Given the description of an element on the screen output the (x, y) to click on. 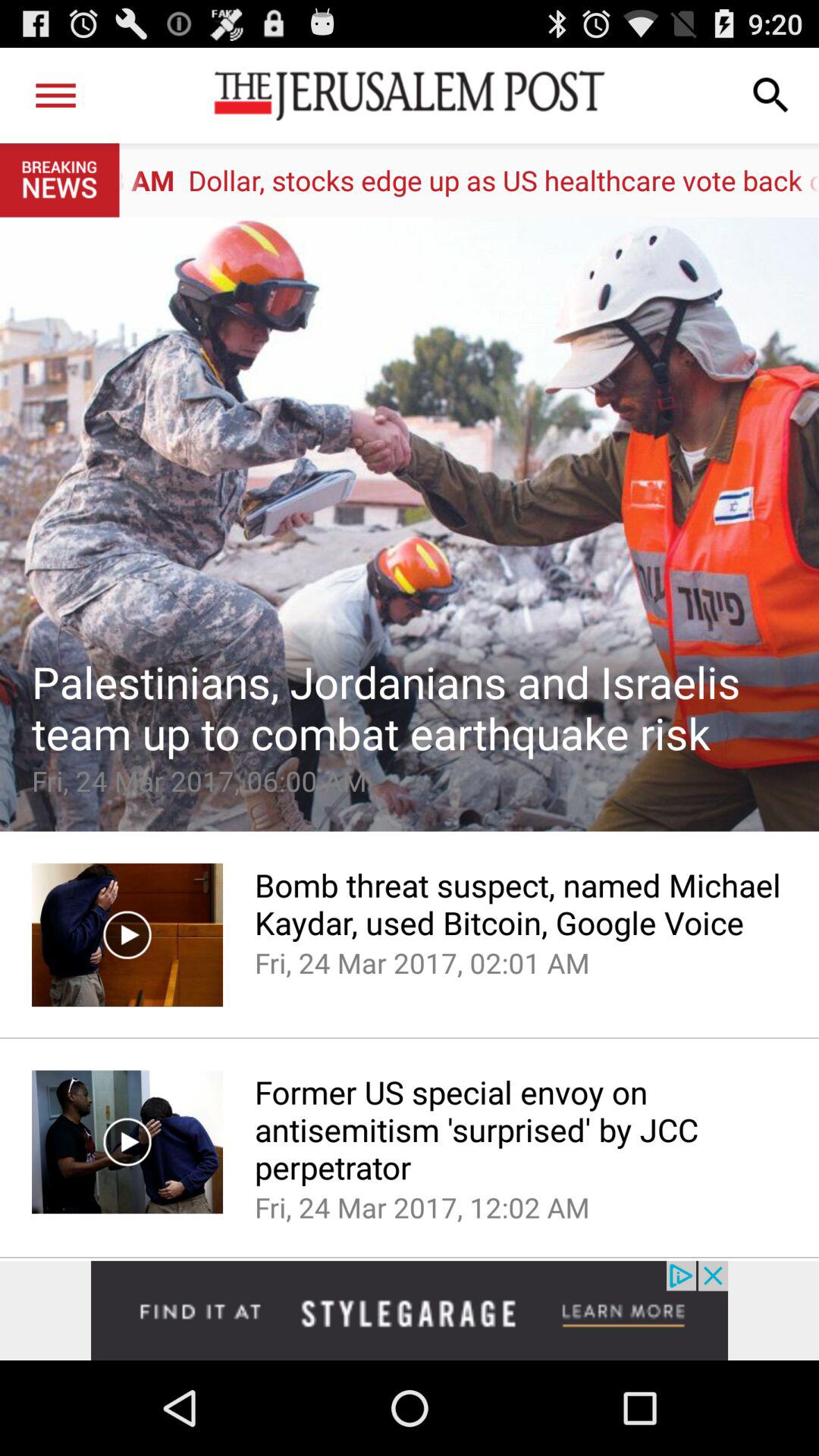
search (771, 95)
